Given the description of an element on the screen output the (x, y) to click on. 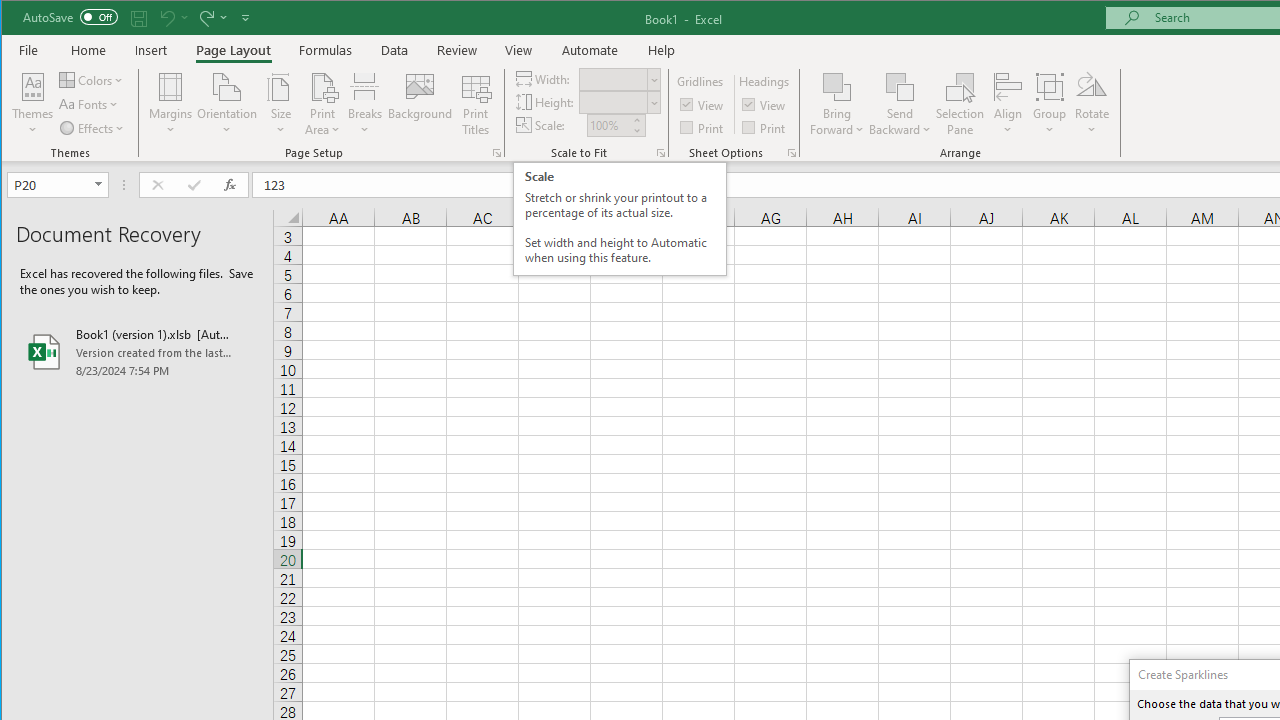
Align (1007, 104)
Print Area (323, 104)
Less (636, 130)
Bring Forward (836, 86)
View (518, 50)
Send Backward (900, 104)
More (636, 120)
Width (612, 79)
Bring Forward (836, 104)
Automate (589, 50)
Data (395, 50)
View (765, 103)
Open (99, 184)
